Given the description of an element on the screen output the (x, y) to click on. 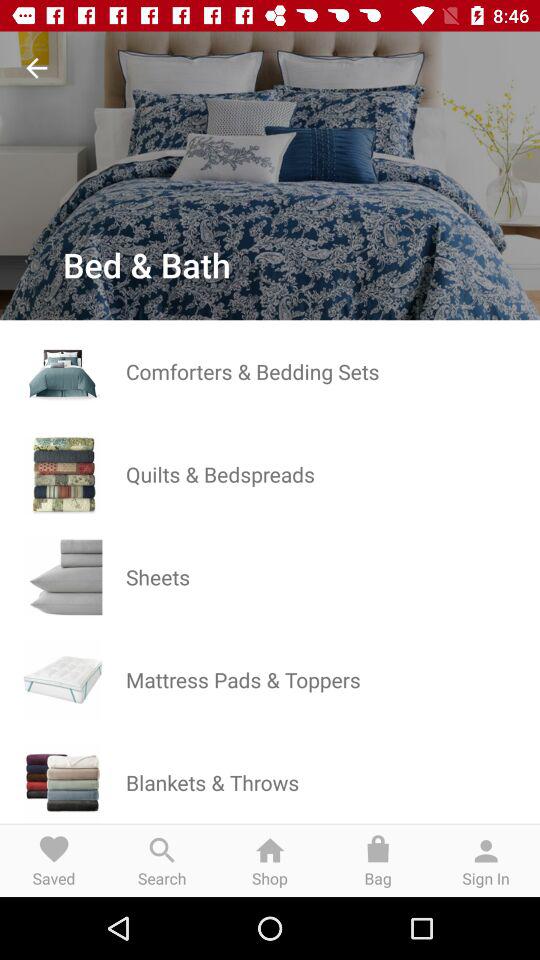
press item at the top left corner (36, 68)
